Given the description of an element on the screen output the (x, y) to click on. 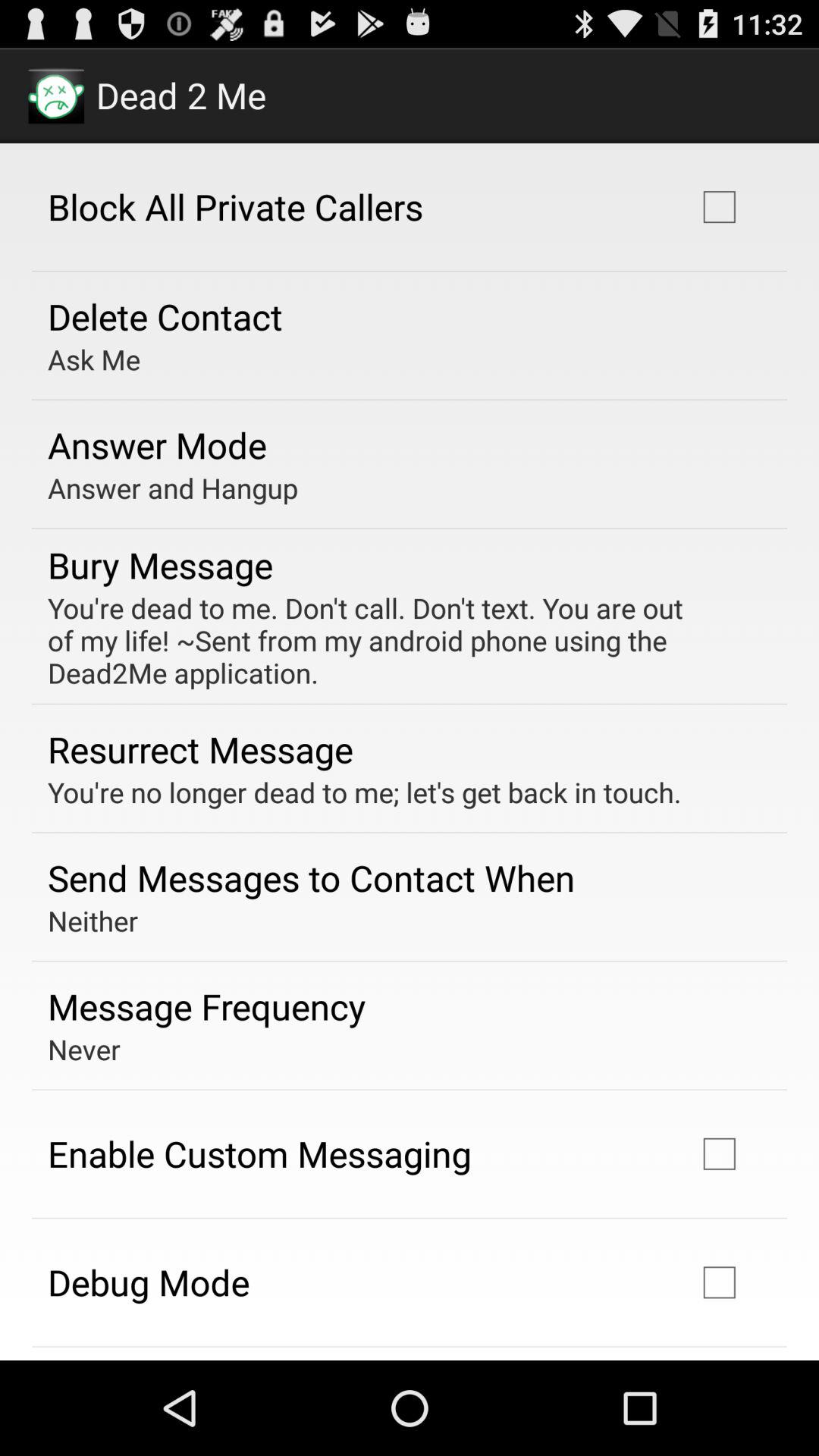
turn off icon above you re no app (200, 749)
